Given the description of an element on the screen output the (x, y) to click on. 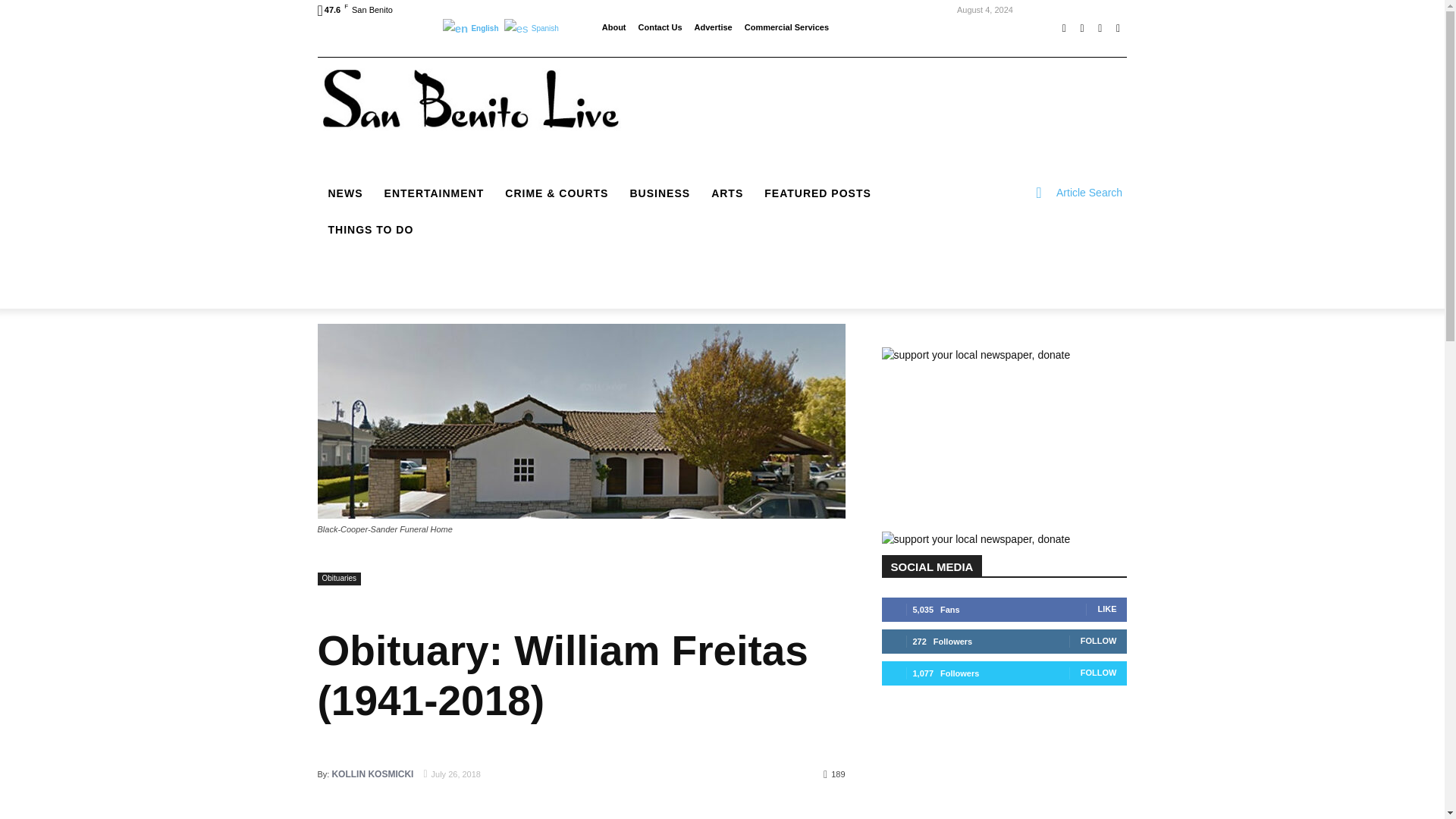
KOLLIN KOSMICKI (372, 773)
Obituaries (339, 578)
About (614, 27)
Commercial Services (786, 27)
Contact Us (660, 27)
Facebook (1063, 28)
Instagram (1081, 28)
FEATURED POSTS (818, 193)
ARTS (727, 193)
NEWS (344, 193)
BUSINESS (659, 193)
Twitter (1099, 28)
Advertise (713, 27)
THINGS TO DO (370, 229)
Spanish (531, 27)
